Given the description of an element on the screen output the (x, y) to click on. 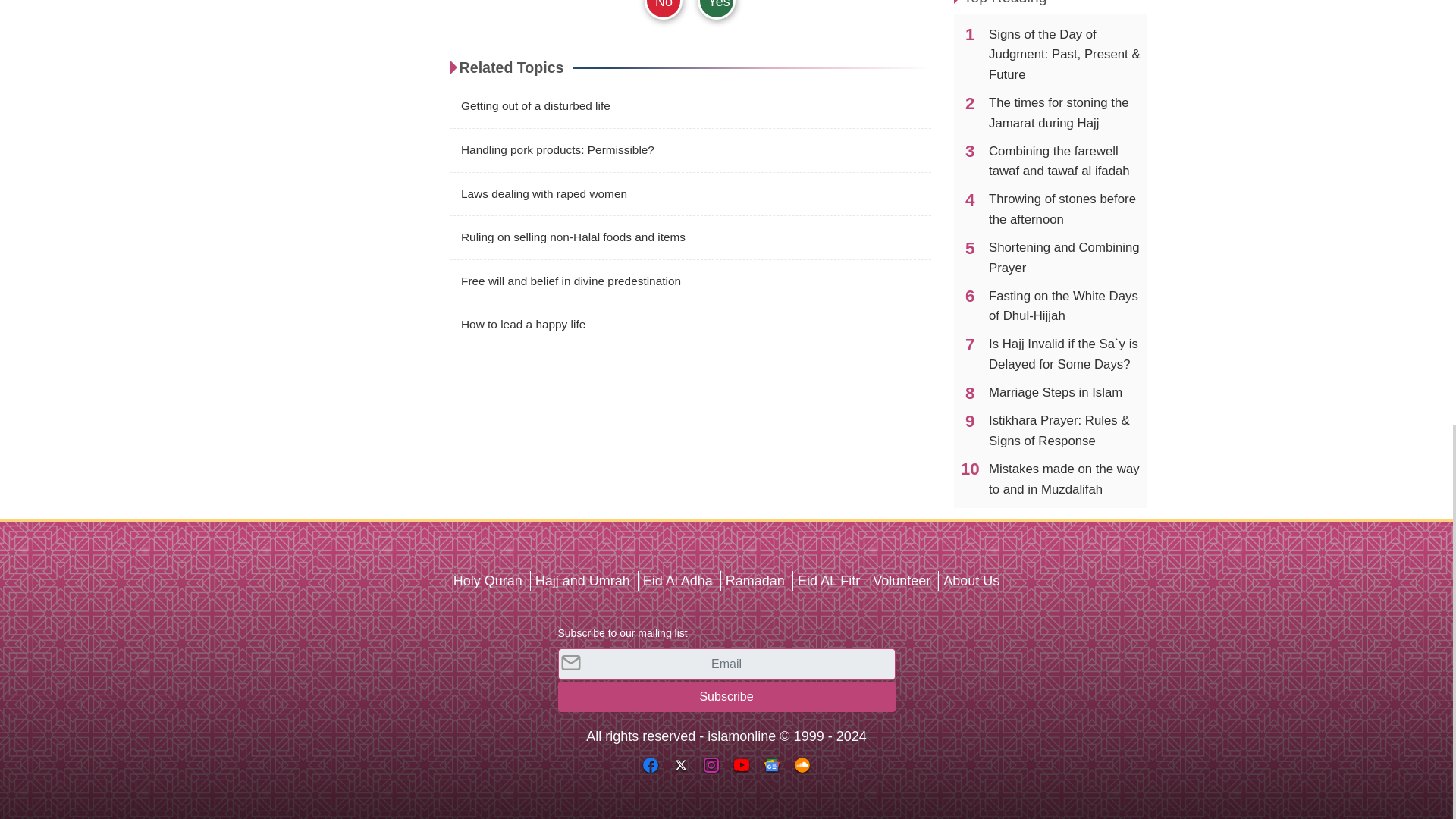
Subscribe (726, 696)
